Given the description of an element on the screen output the (x, y) to click on. 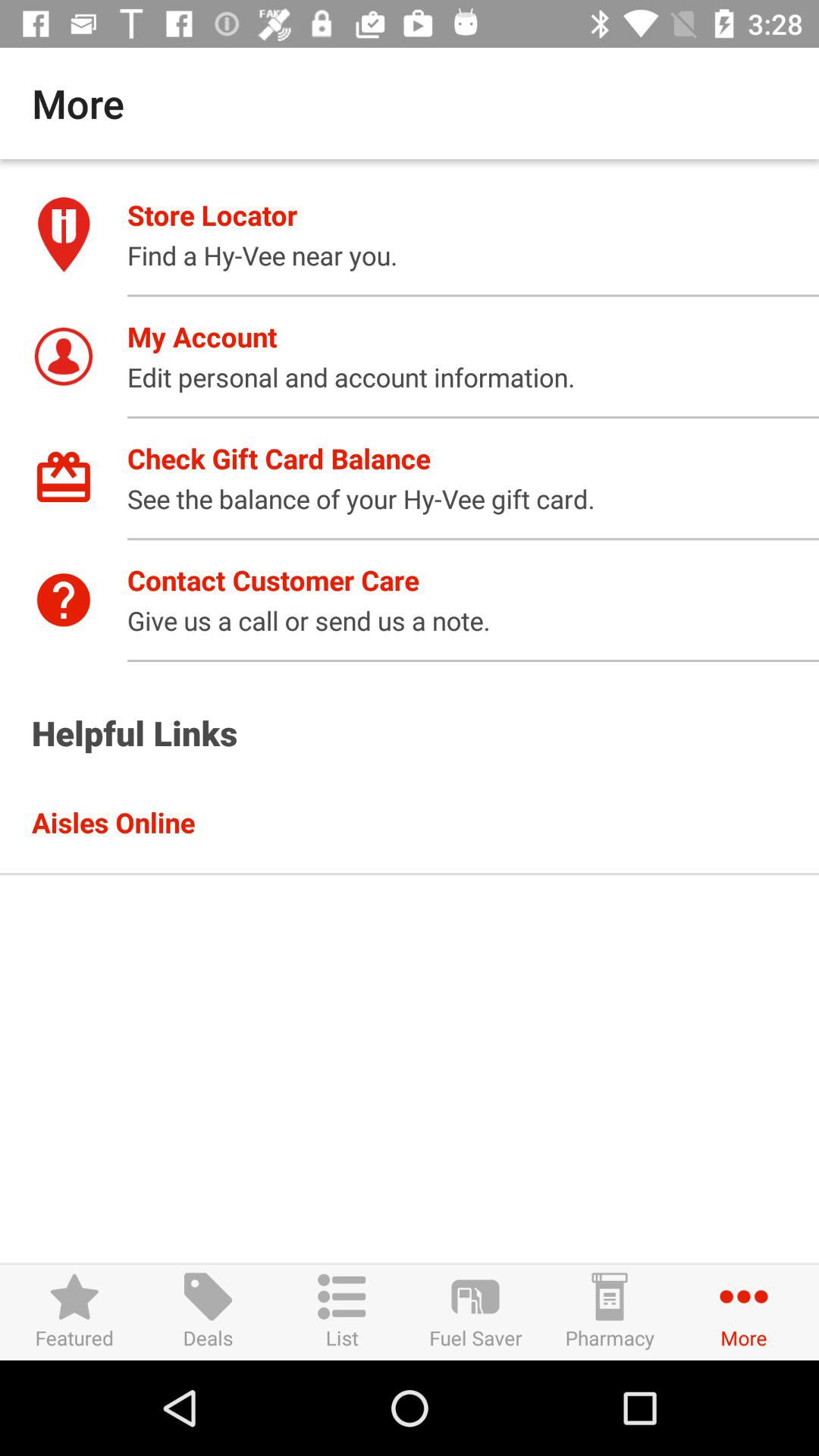
press the item to the left of the fuel saver icon (341, 1311)
